Given the description of an element on the screen output the (x, y) to click on. 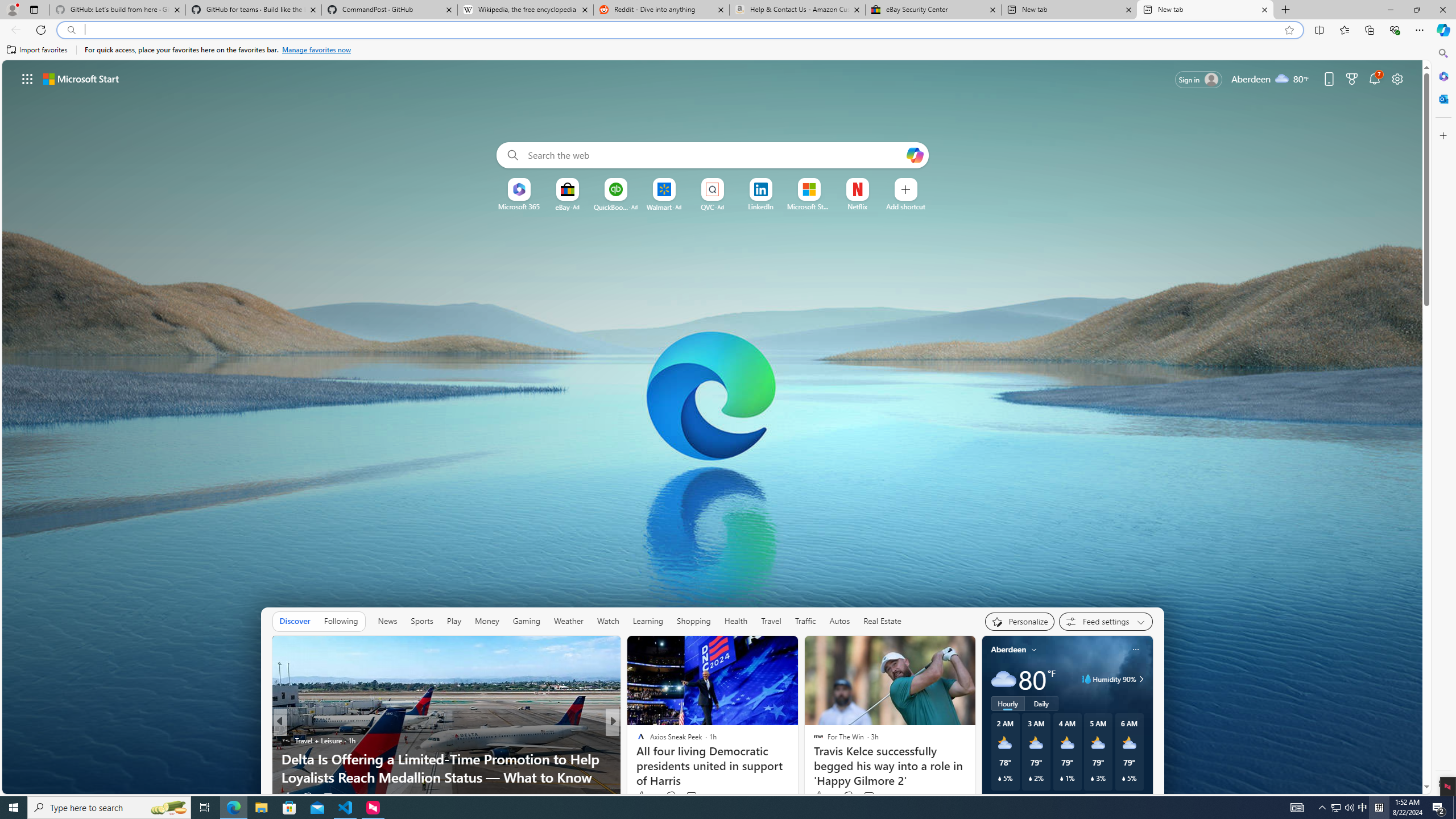
Click to sign into Microsoft Edge (1198, 79)
View comments 25 Comment (692, 796)
Cloudy (1003, 678)
Health (735, 621)
Wikipedia, the free encyclopedia (525, 9)
Shopping (693, 621)
Eagles QB Jalen Hurts' perfect summer comes to abrupt end (796, 767)
Real Estate (881, 621)
